Given the description of an element on the screen output the (x, y) to click on. 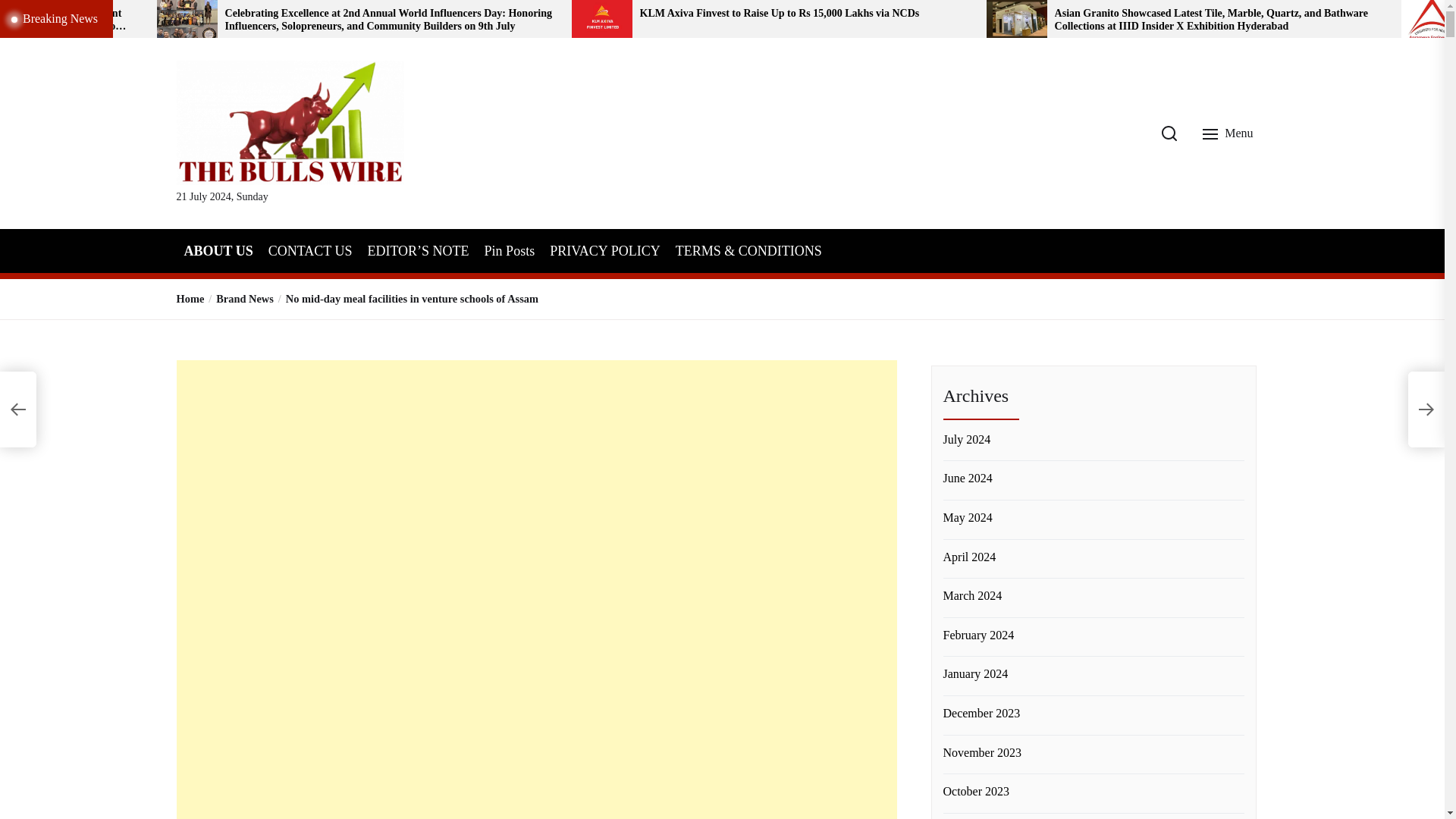
KLM Axiva Finvest to Raise Up to Rs 15,000 Lakhs via NCDs (807, 13)
